Given the description of an element on the screen output the (x, y) to click on. 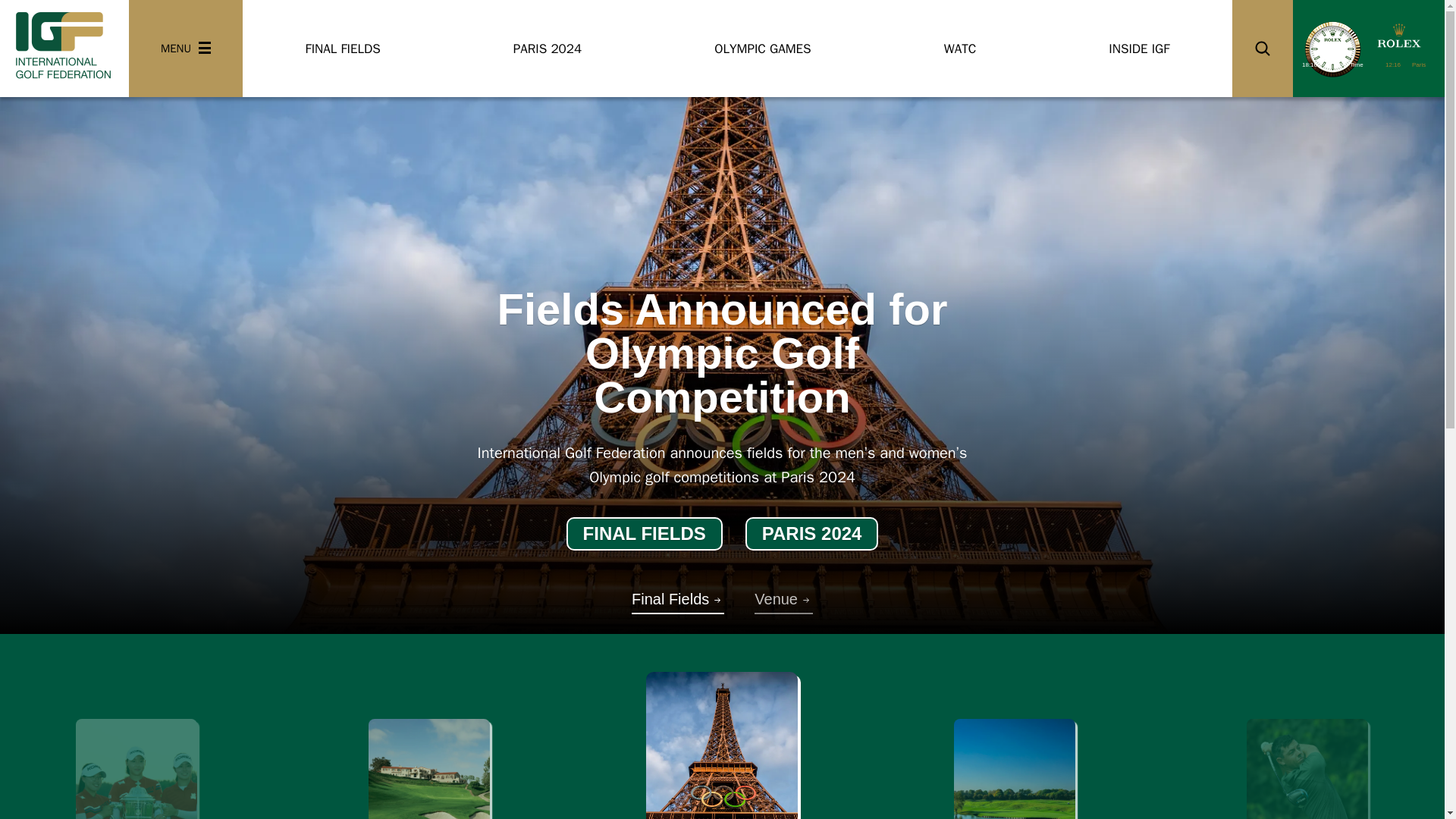
INSIDE IGF (1138, 48)
Final Fields (677, 598)
FINAL FIELDS (644, 533)
PARIS 2024 (812, 533)
PARIS 2024 (812, 533)
WATC (959, 48)
OLYMPIC GAMES (762, 48)
FINAL FIELDS (342, 48)
Venue (783, 598)
PARIS 2024 (546, 48)
FINAL FIELDS (644, 533)
